Given the description of an element on the screen output the (x, y) to click on. 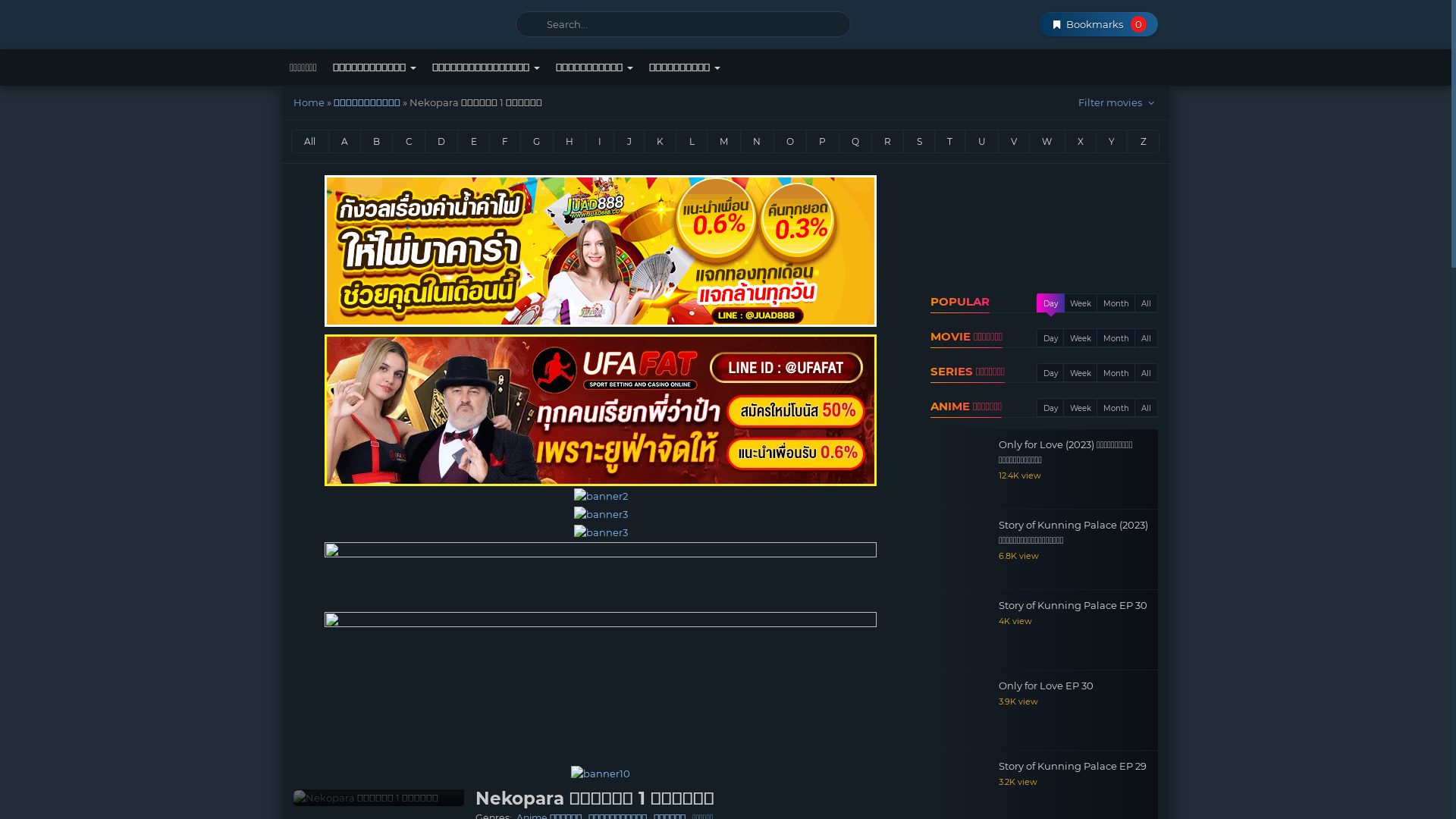
Week Element type: text (1080, 303)
All Element type: text (1146, 373)
banner2 Element type: hover (600, 496)
Only for Love EP 30 Element type: hover (958, 713)
Week Element type: text (1080, 408)
Month Element type: text (1116, 373)
banner9 Element type: hover (600, 250)
Story of Kunning Palace EP 29 Element type: text (1040, 765)
banner3 Element type: hover (600, 514)
Month Element type: text (1116, 338)
banner3 Element type: hover (600, 532)
All Element type: text (1146, 408)
Day Element type: text (1050, 373)
Day Element type: text (1050, 408)
Month Element type: text (1116, 408)
Day Element type: text (1050, 338)
Month Element type: text (1116, 303)
Week Element type: text (1080, 338)
Story of Kunning Palace EP 30 Element type: hover (958, 633)
All Element type: text (1146, 338)
banner1 Element type: hover (600, 410)
banner9 Element type: hover (600, 773)
All Element type: text (1146, 303)
Filter movies Element type: text (1117, 102)
Home Element type: text (308, 102)
Only for Love EP 30 Element type: text (1040, 685)
Day Element type: text (1050, 303)
Week Element type: text (1080, 373)
Story of Kunning Palace EP 30 Element type: text (1040, 604)
